Given the description of an element on the screen output the (x, y) to click on. 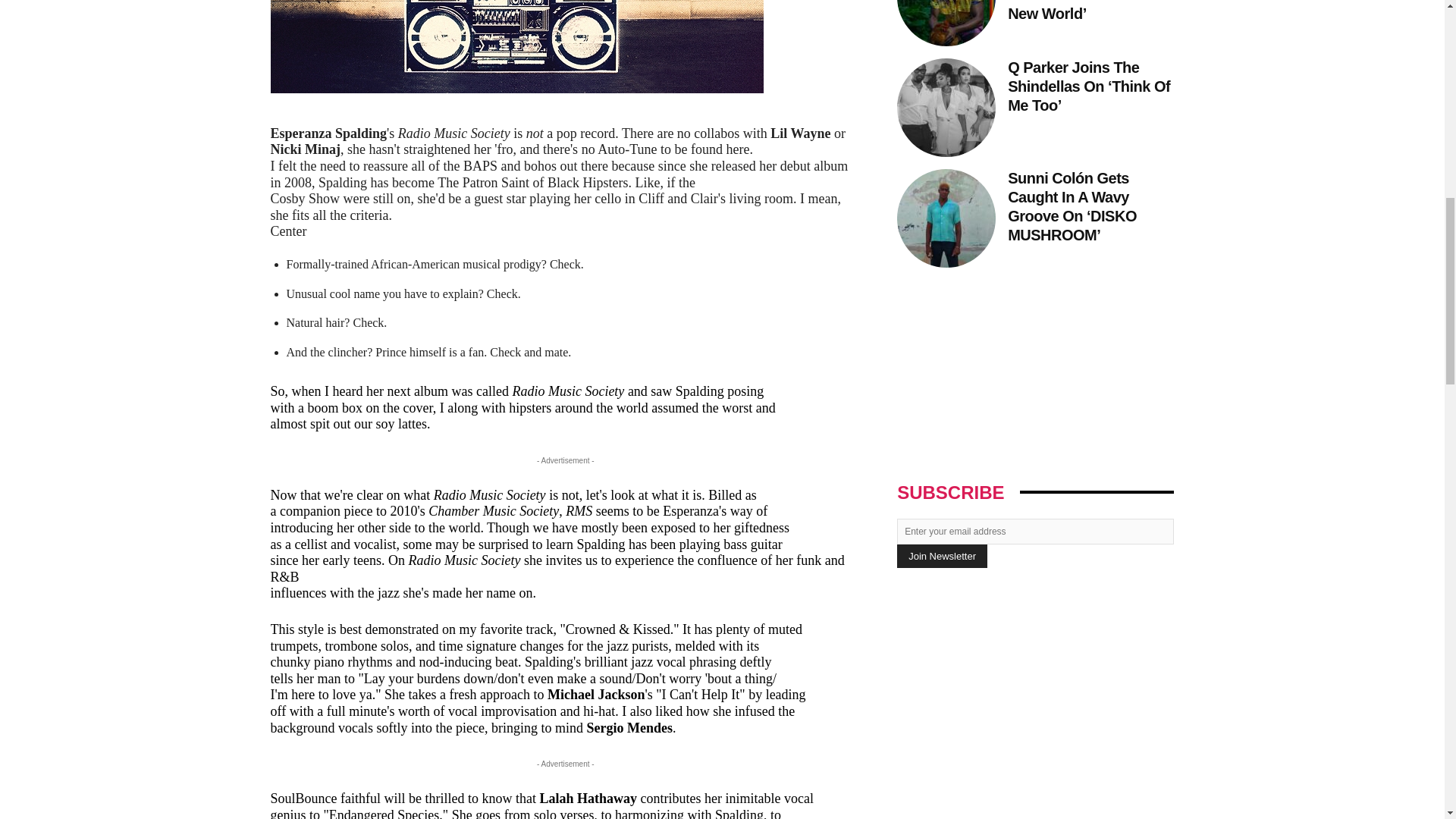
Join Newsletter (941, 556)
